Given the description of an element on the screen output the (x, y) to click on. 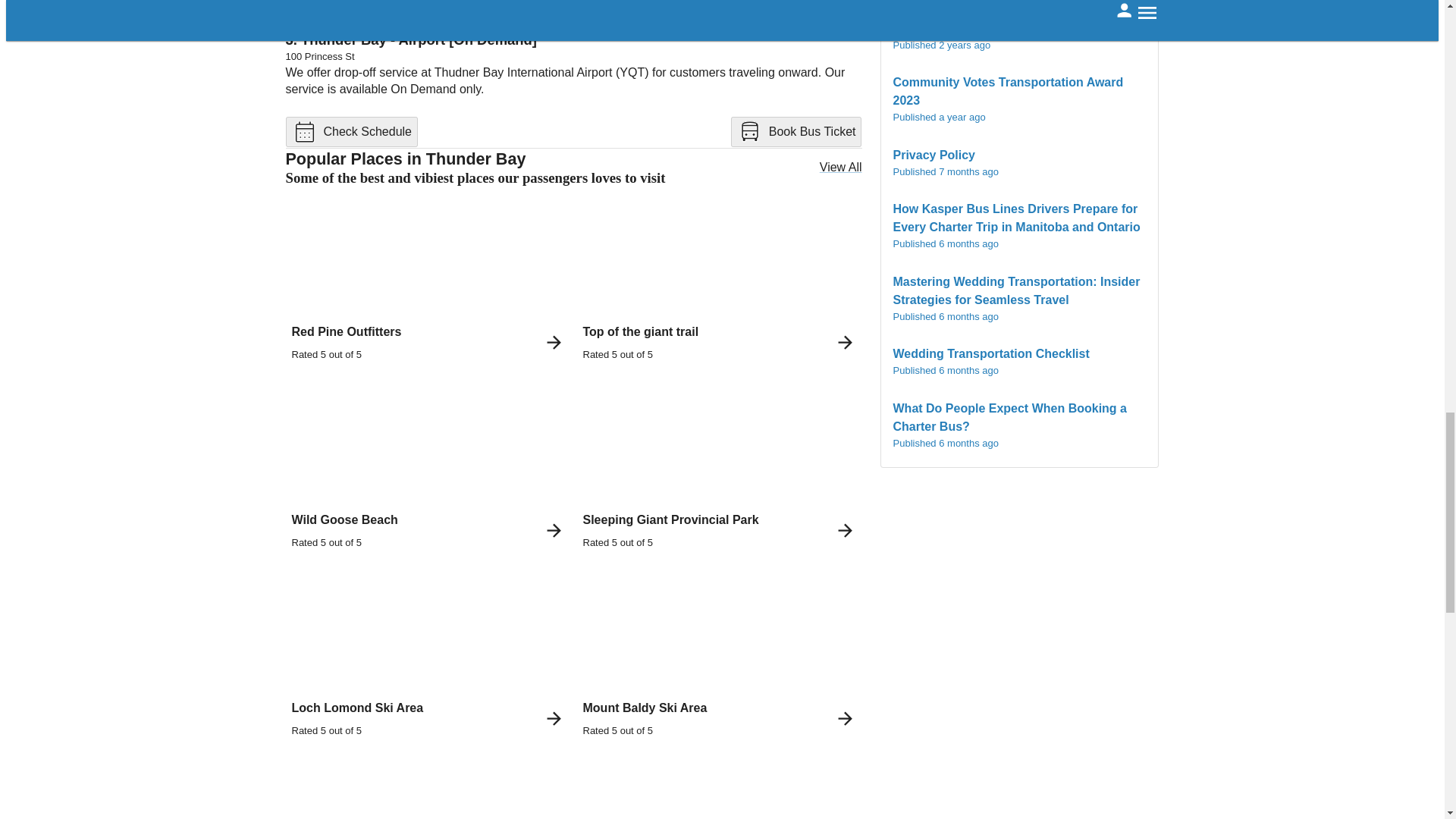
Check Schedule (427, 465)
View All (718, 652)
Book Bus Ticket (351, 132)
